Given the description of an element on the screen output the (x, y) to click on. 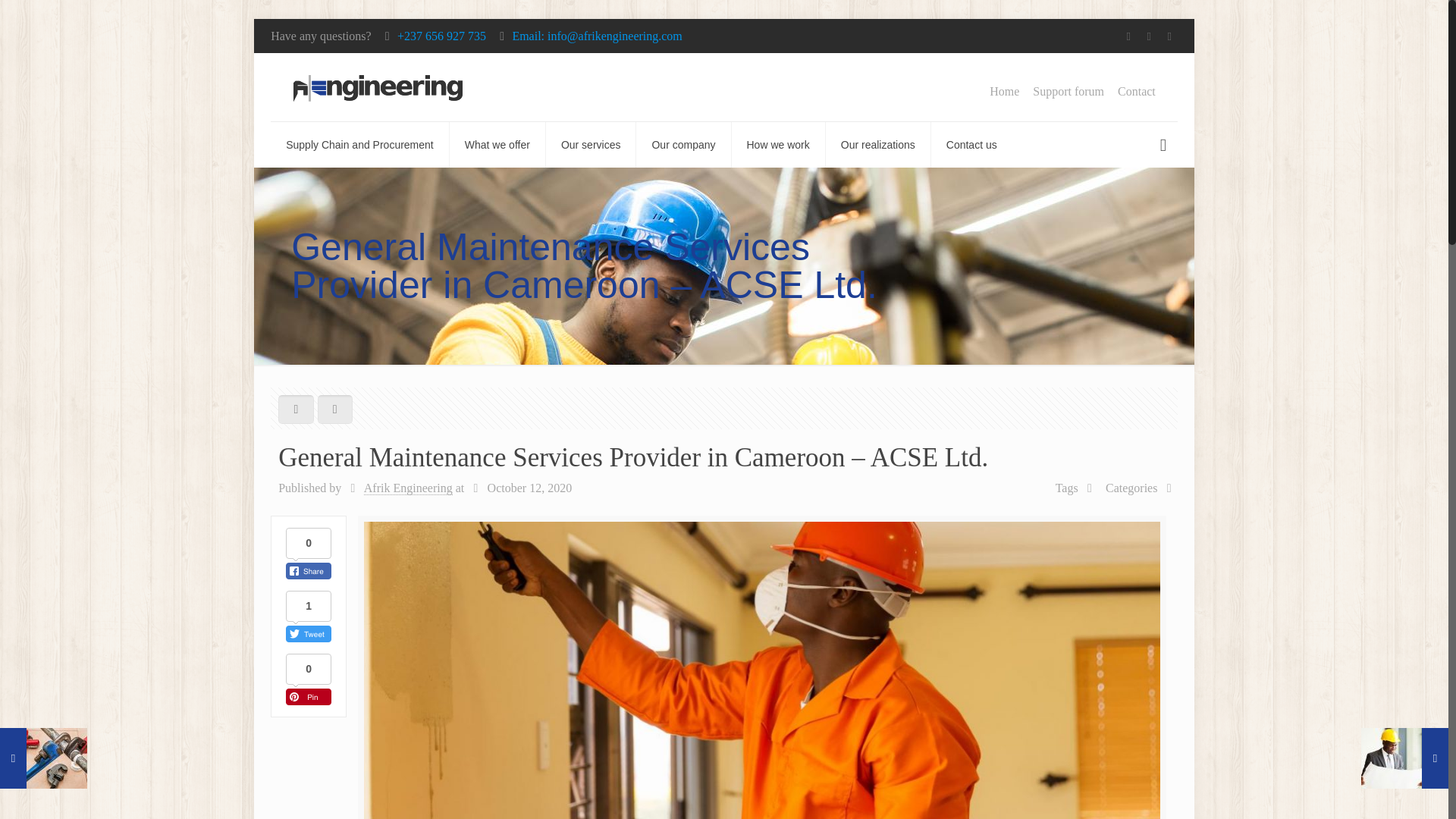
How we work (777, 144)
Facebook (1129, 36)
Contact (1137, 91)
LinkedIn (1169, 36)
Afrik Engineering (408, 488)
Twitter (1149, 36)
Supply Chain and Procurement (359, 144)
Our realizations (878, 144)
What we offer (497, 144)
Contact us (971, 144)
